Given the description of an element on the screen output the (x, y) to click on. 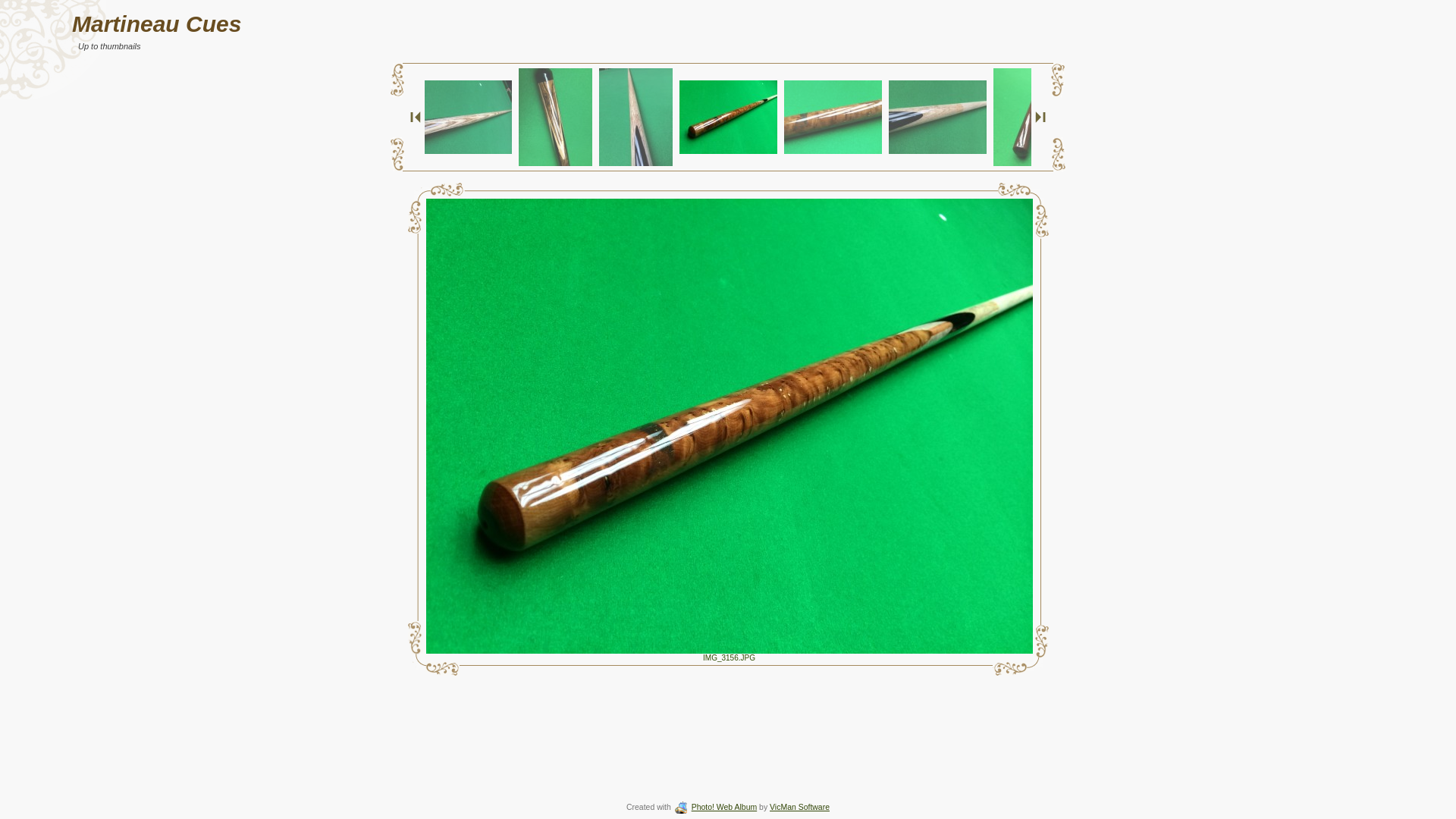
Martineau Cues Element type: text (156, 23)
Forward Element type: hover (1040, 116)
Photo! Web Album Element type: text (715, 807)
VicMan Software Element type: text (799, 807)
Up to thumbnails Element type: text (109, 45)
Back Element type: hover (415, 116)
